Given the description of an element on the screen output the (x, y) to click on. 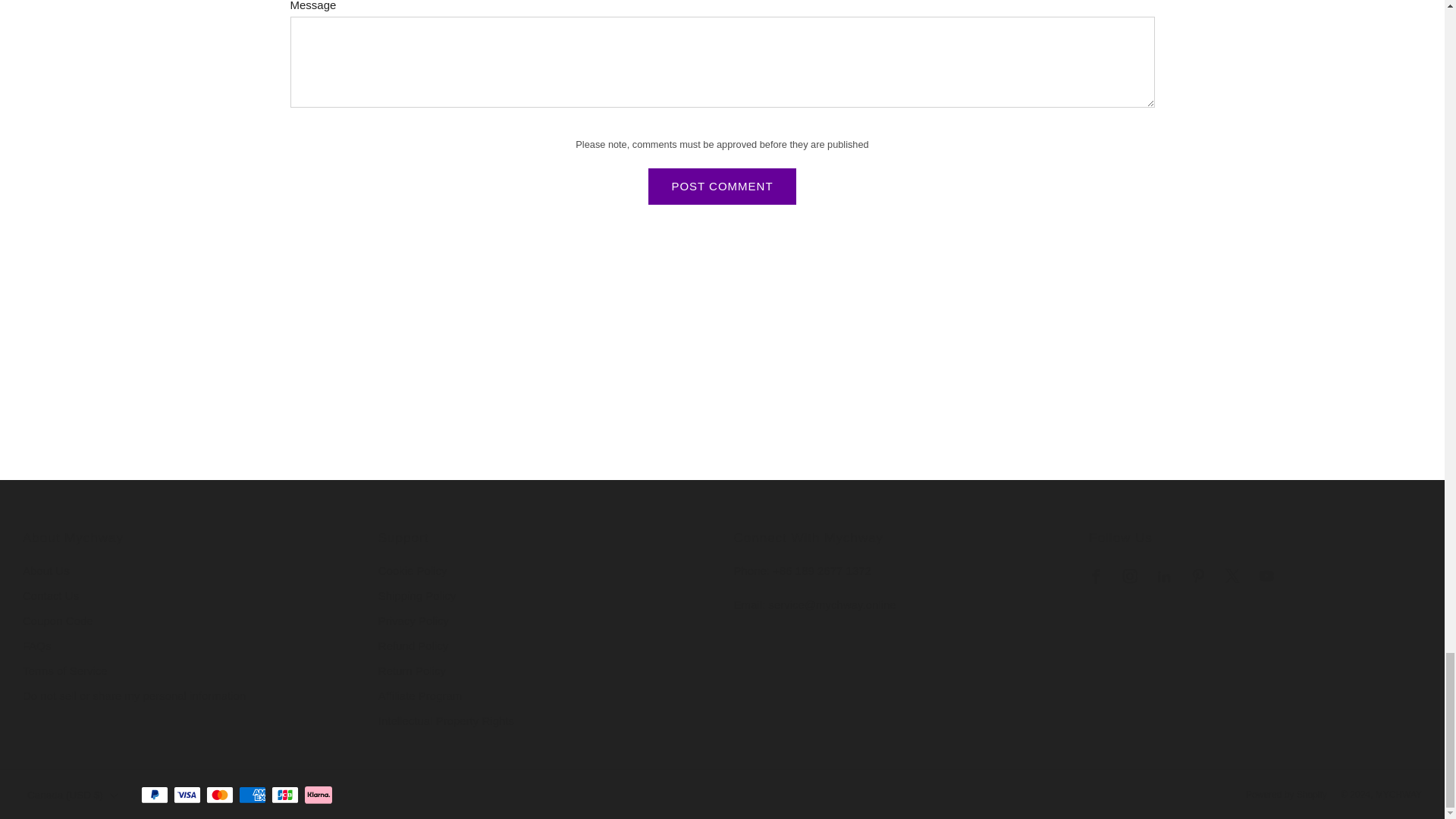
Post comment (720, 186)
